Given the description of an element on the screen output the (x, y) to click on. 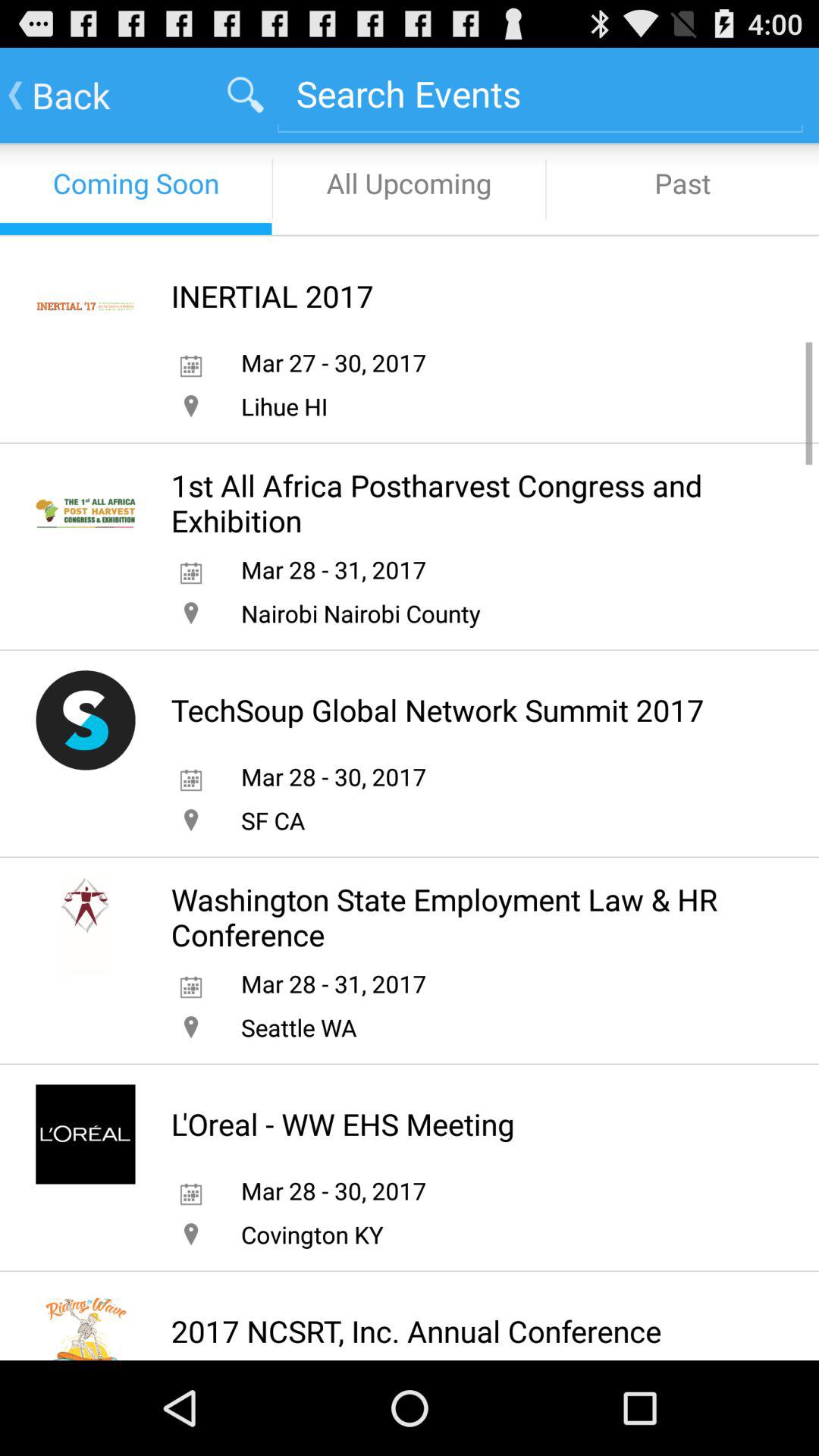
select icon below mar 28 31 (360, 613)
